Given the description of an element on the screen output the (x, y) to click on. 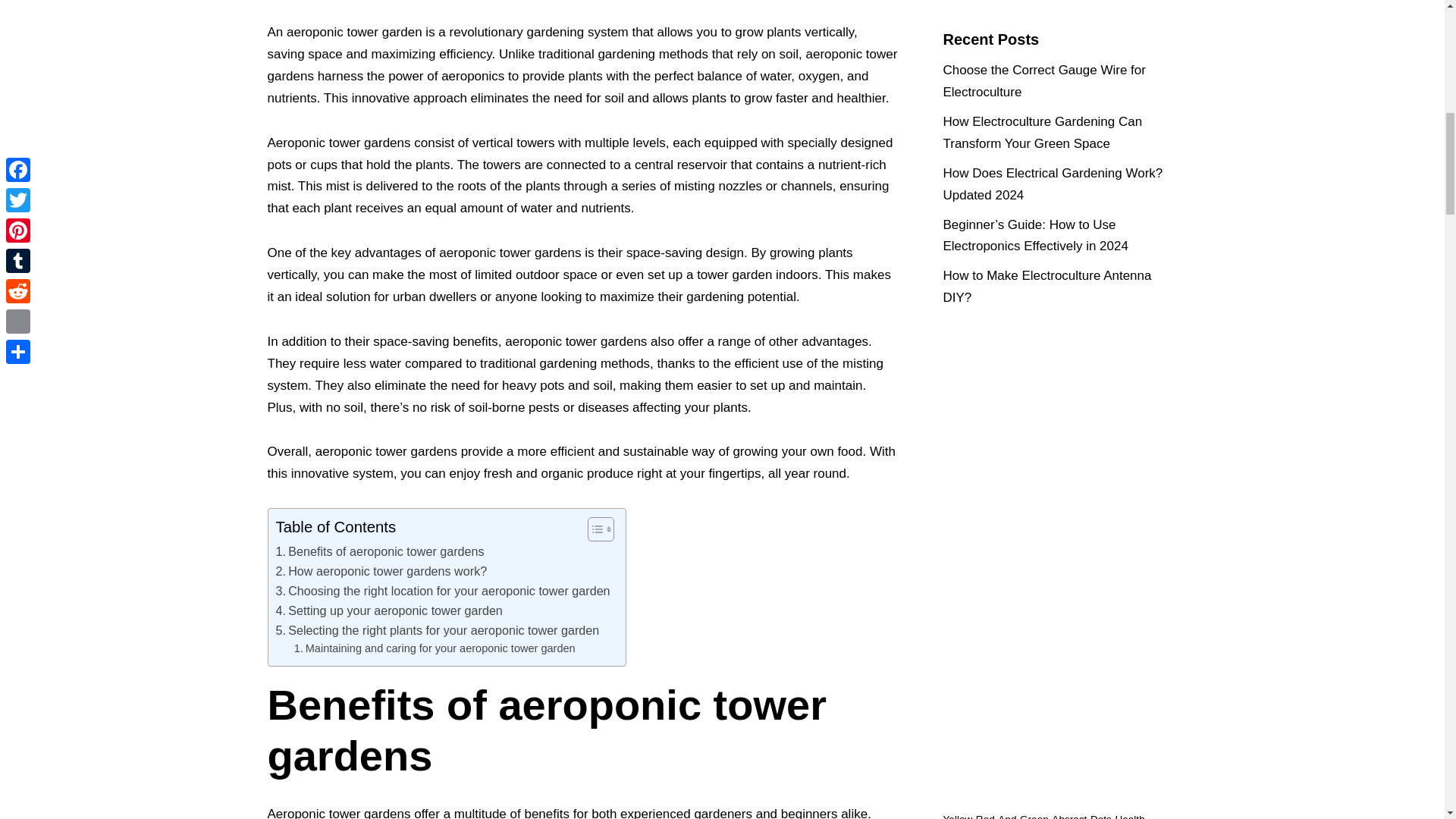
How aeroponic tower gardens work? (381, 571)
Choosing the right location for your aeroponic tower garden (443, 591)
Setting up your aeroponic tower garden (389, 610)
Benefits of aeroponic tower gardens (380, 551)
How aeroponic tower gardens work? (381, 571)
Maintaining and caring for your aeroponic tower garden (434, 648)
Maintaining and caring for your aeroponic tower garden (434, 648)
Selecting the right plants for your aeroponic tower garden (437, 630)
Benefits of aeroponic tower gardens (380, 551)
Setting up your aeroponic tower garden (389, 610)
